Given the description of an element on the screen output the (x, y) to click on. 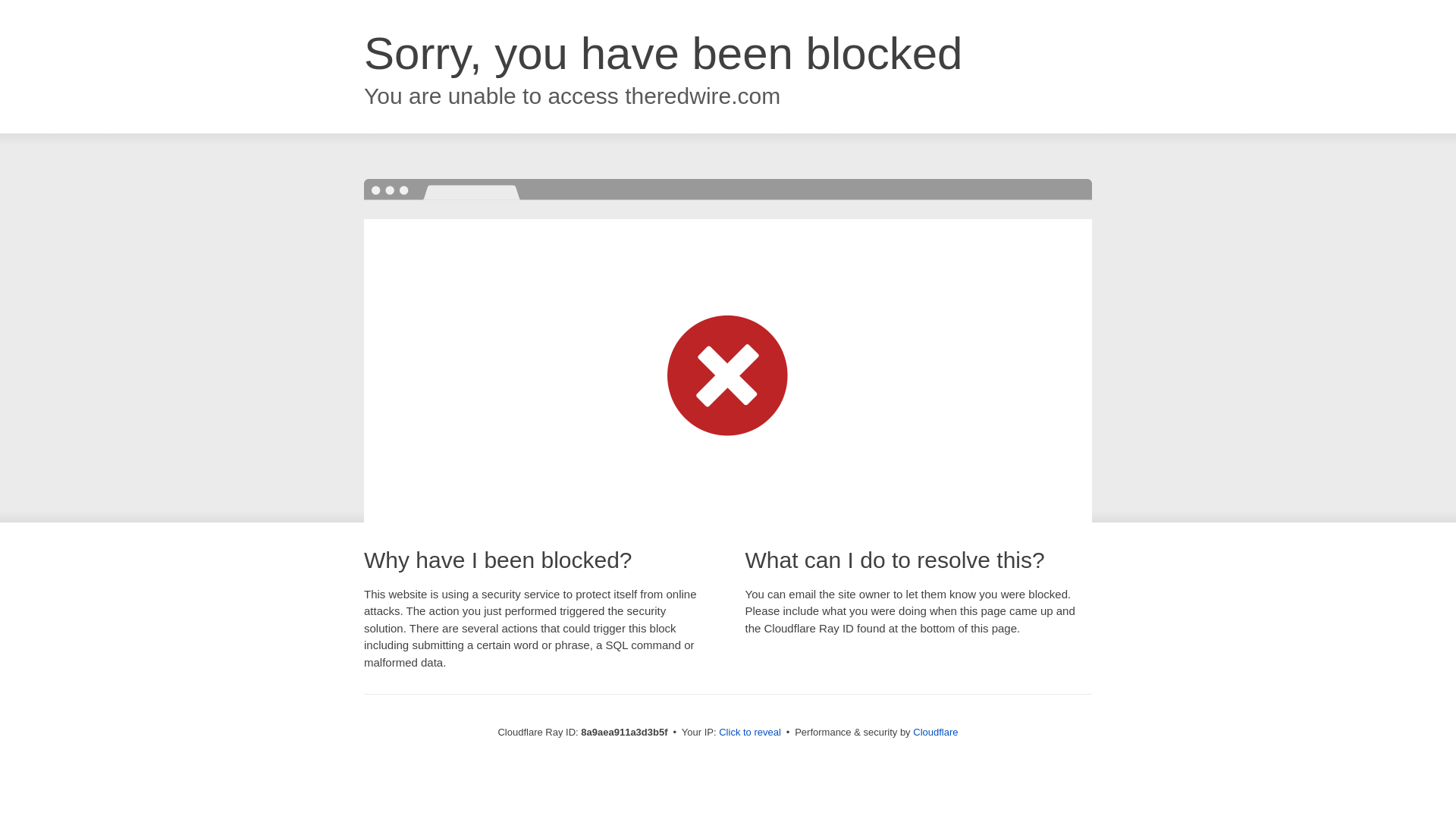
Click to reveal (749, 732)
Cloudflare (935, 731)
